Given the description of an element on the screen output the (x, y) to click on. 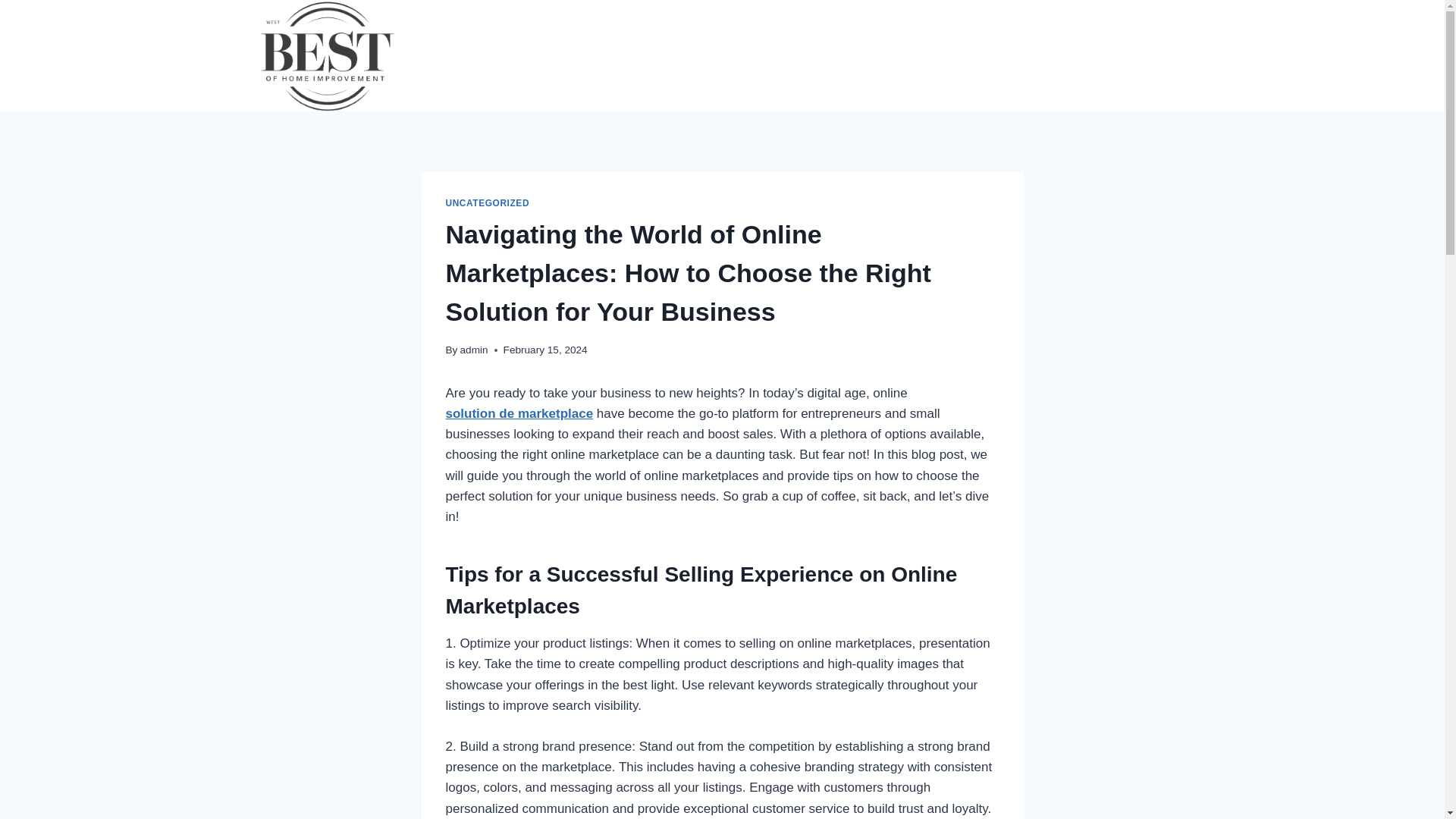
UNCATEGORIZED (487, 203)
solution de marketplace (519, 413)
admin (473, 349)
